Given the description of an element on the screen output the (x, y) to click on. 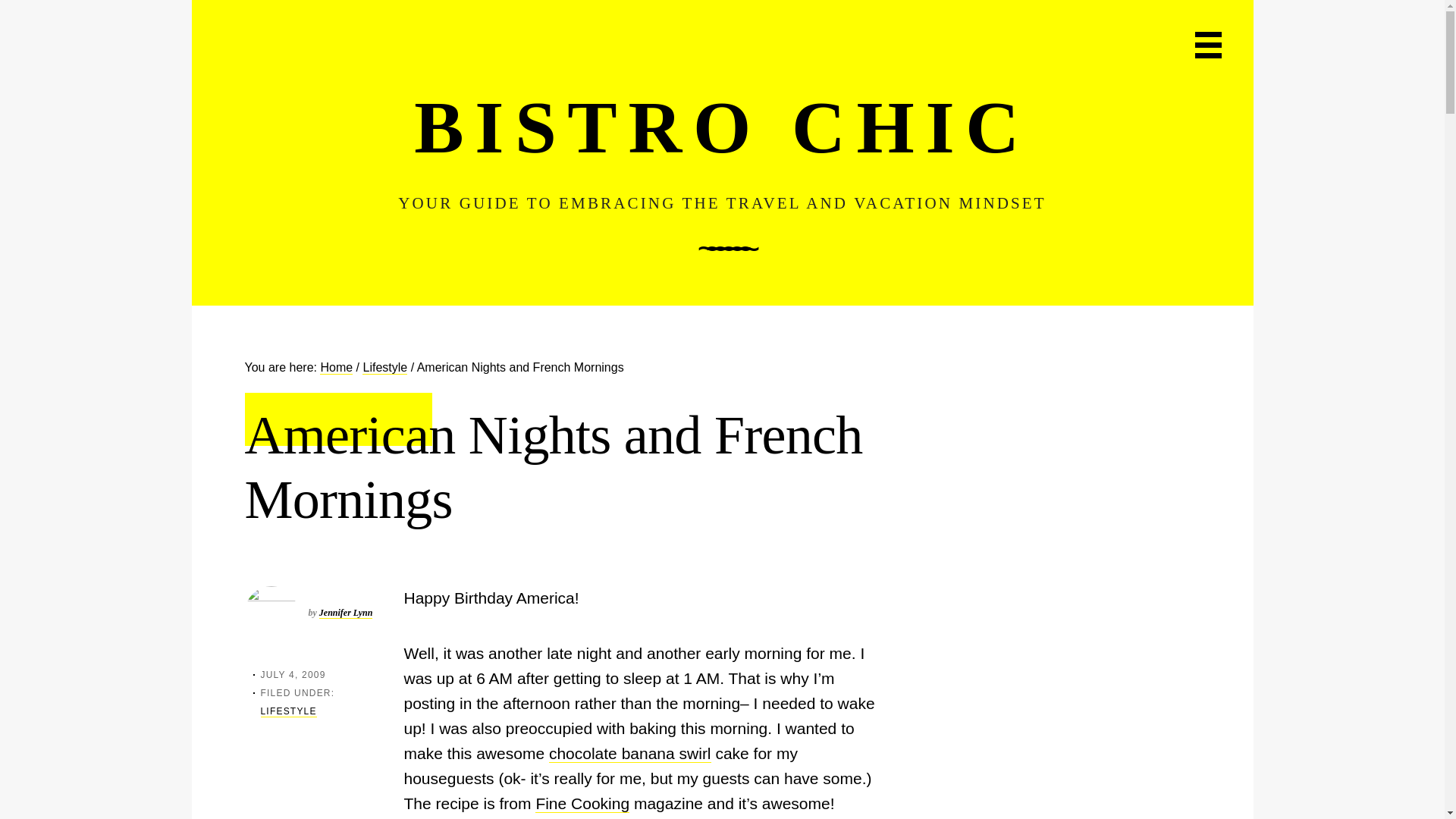
Jennifer Lynn (345, 613)
Fine Cooking (581, 803)
Chocolate Banana Swirl Cake (629, 753)
Fine Cooking magazine (581, 803)
chocolate banana swirl (629, 753)
Primary Navigation Menu (1208, 44)
BISTRO CHIC (721, 127)
Lifestyle (384, 367)
JULY 4, 2009 (293, 674)
Home (336, 367)
LIFESTYLE (288, 711)
